Given the description of an element on the screen output the (x, y) to click on. 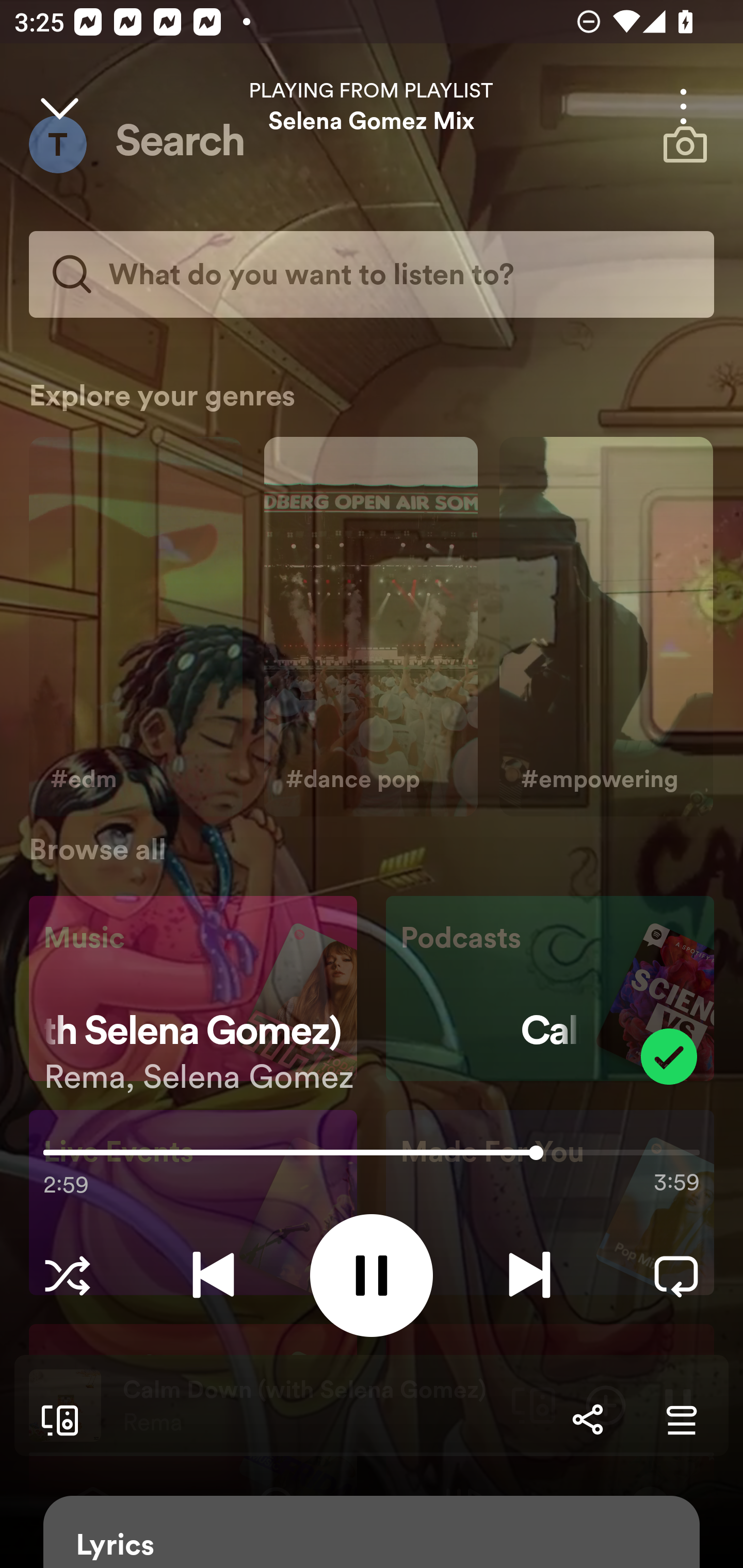
Close (59, 106)
PLAYING FROM PLAYLIST Selena Gomez Mix (371, 106)
Item added (669, 1056)
2:59 3:59 179679.0 Use volume keys to adjust (371, 1157)
Pause (371, 1275)
Previous (212, 1275)
Next (529, 1275)
Choose a Listening Mode (66, 1275)
Repeat (676, 1275)
Share (587, 1419)
Go to Queue (681, 1419)
Connect to a device. Opens the devices menu (55, 1419)
Lyrics (371, 1531)
